Given the description of an element on the screen output the (x, y) to click on. 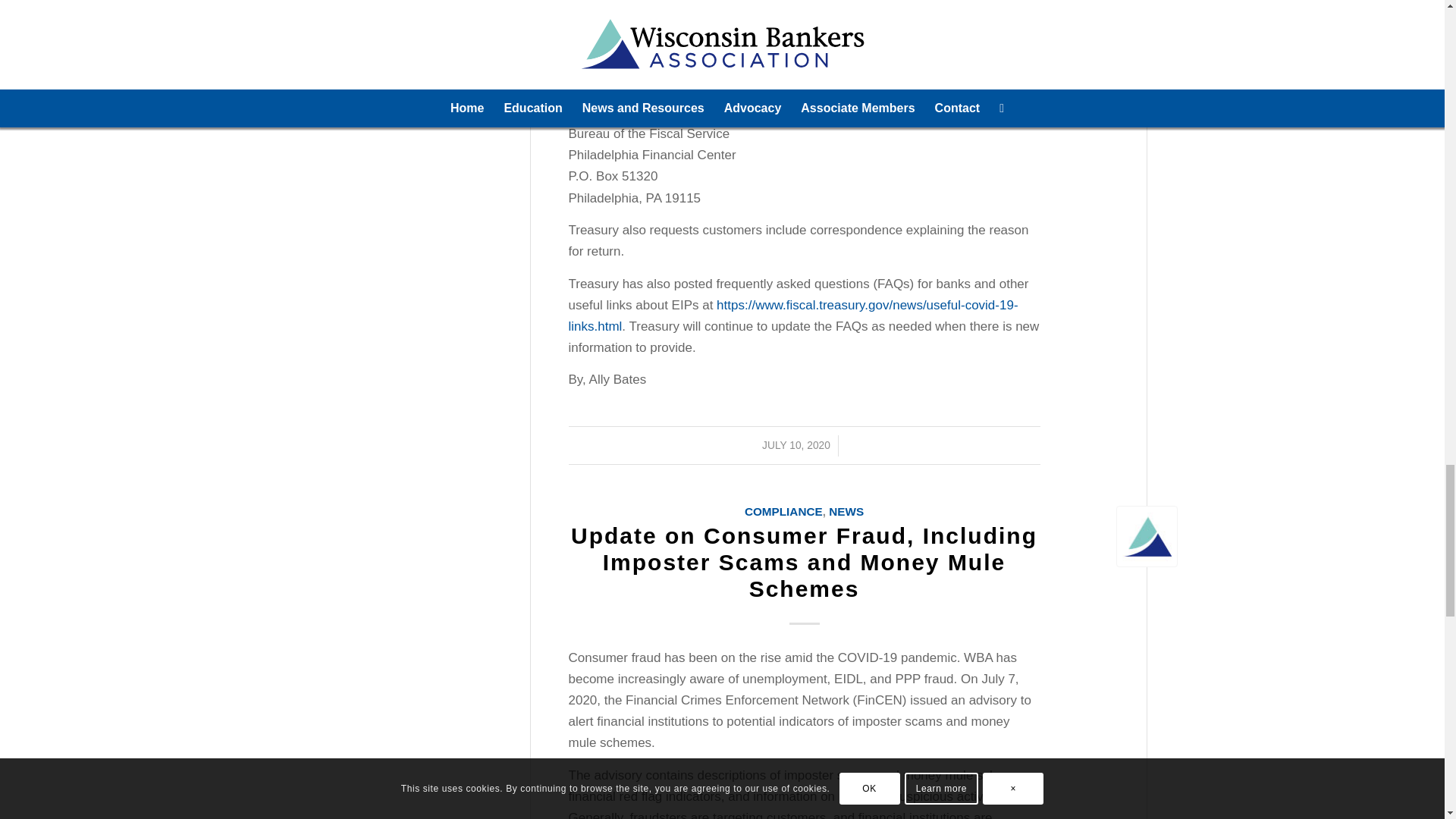
COMPLIANCE (783, 511)
NEWS (845, 511)
